Given the description of an element on the screen output the (x, y) to click on. 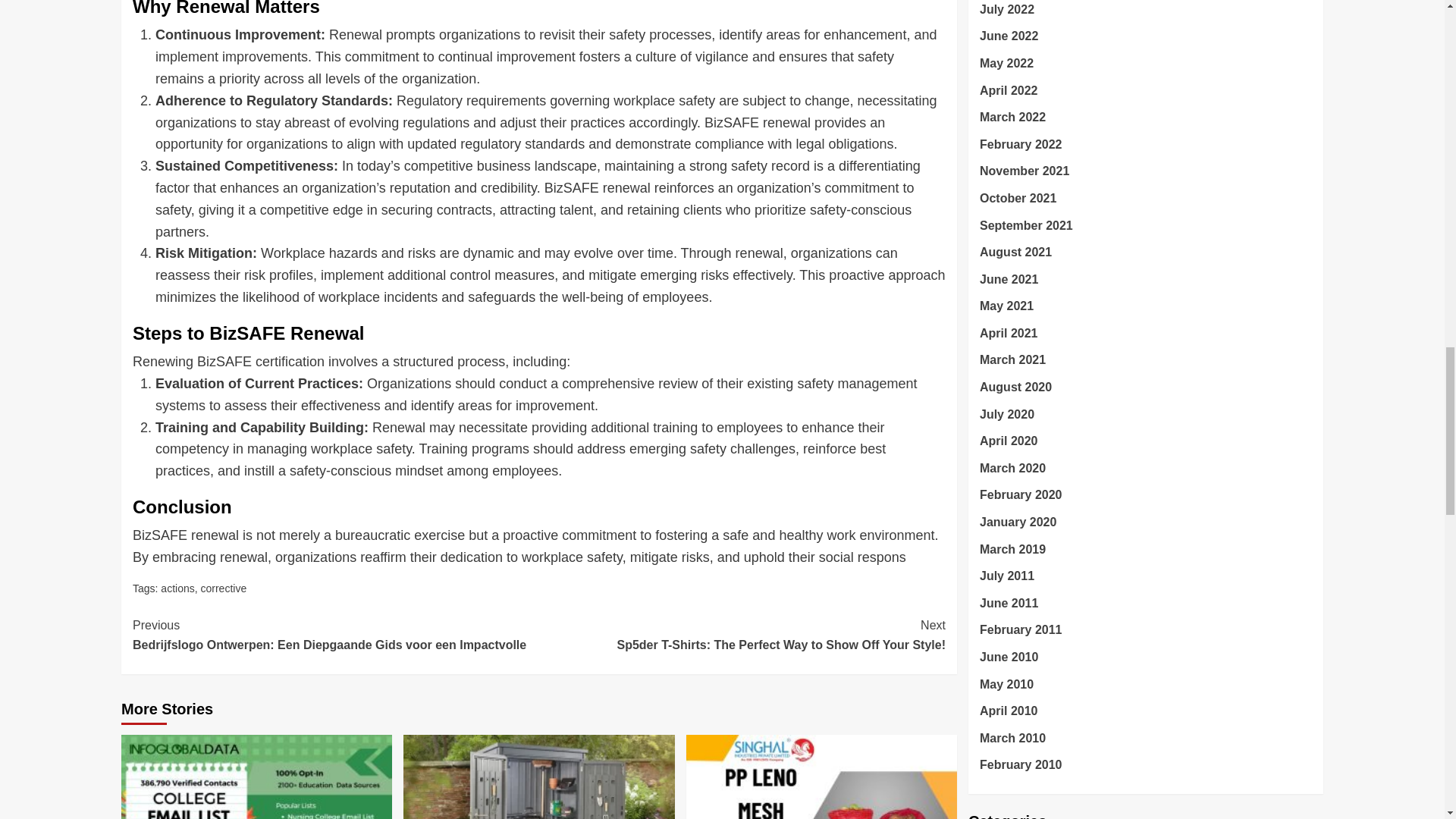
actions (176, 588)
corrective (223, 588)
